Given the description of an element on the screen output the (x, y) to click on. 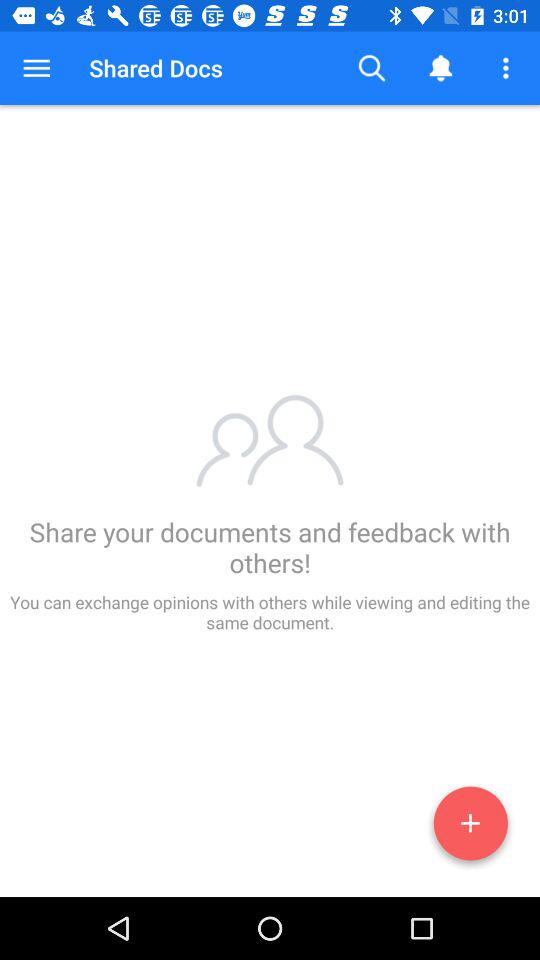
add document (470, 827)
